Given the description of an element on the screen output the (x, y) to click on. 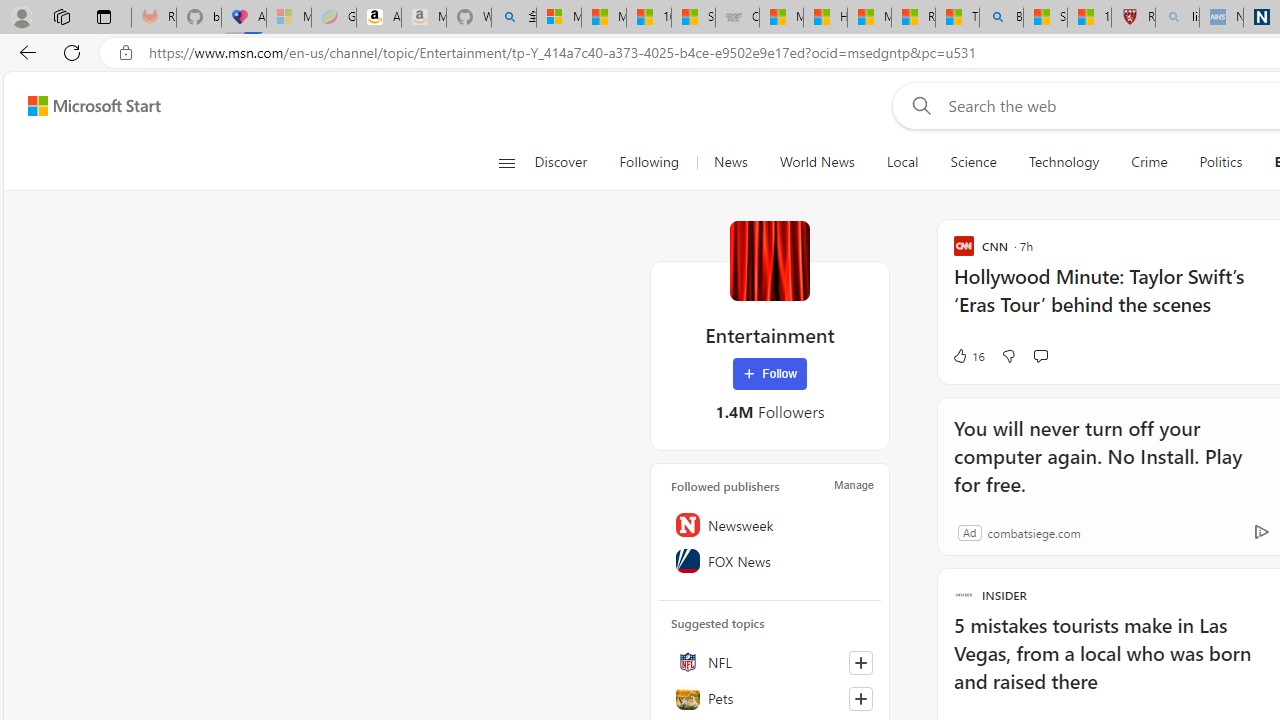
Manage (854, 484)
Asthma Inhalers: Names and Types (243, 17)
Web search (917, 105)
NFL (770, 661)
Skip to content (86, 105)
Combat Siege (737, 17)
How I Got Rid of Microsoft Edge's Unnecessary Features (825, 17)
World News (816, 162)
16 Like (968, 355)
